Given the description of an element on the screen output the (x, y) to click on. 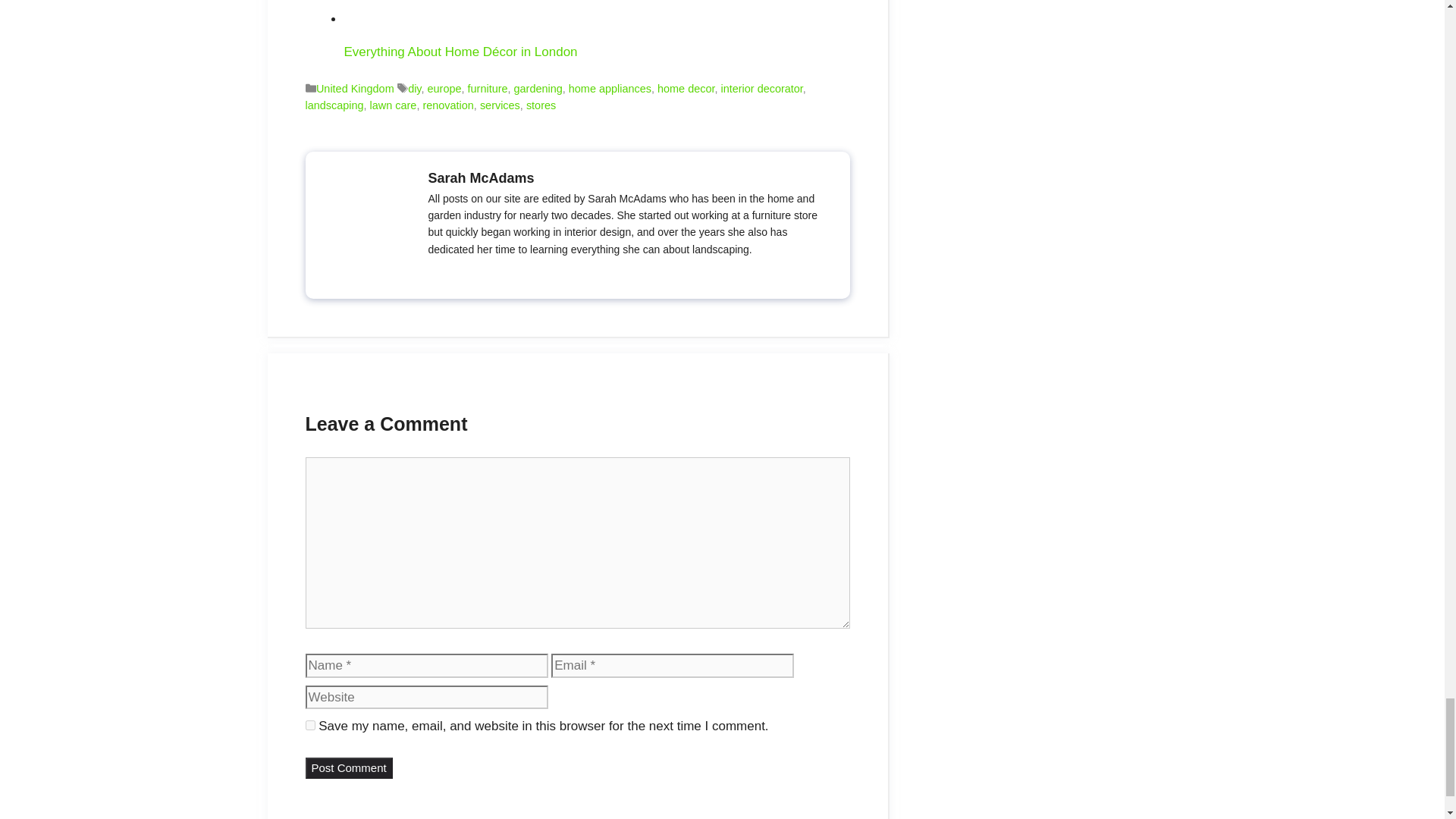
Post Comment (347, 768)
yes (309, 725)
